Given the description of an element on the screen output the (x, y) to click on. 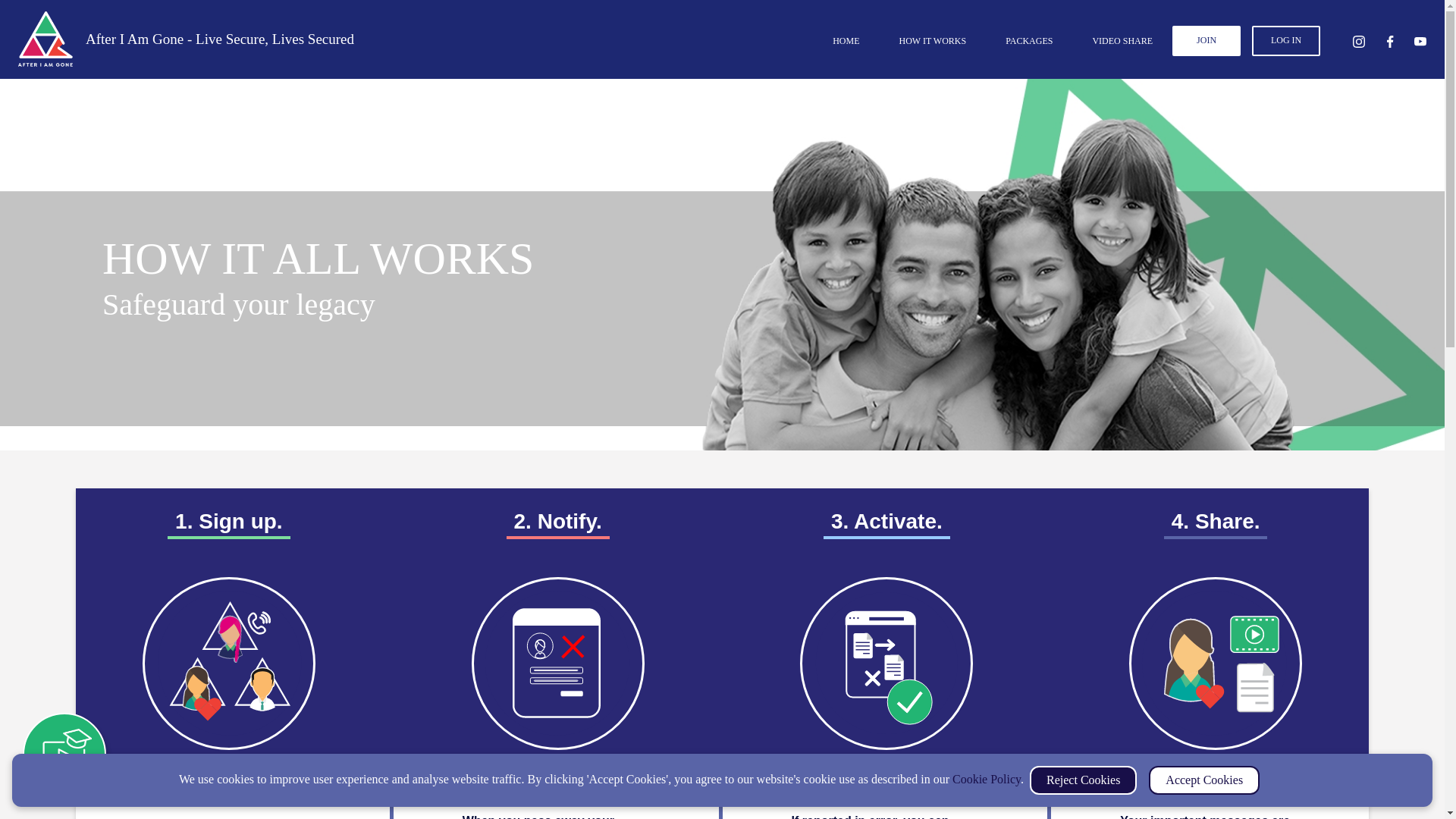
Accept Cookies (1203, 779)
JOIN (1206, 40)
LOG IN (1286, 40)
Reject Cookies (1083, 779)
Cookie Policy (986, 779)
VIDEO SHARE (1121, 40)
HOME (845, 40)
PACKAGES (1028, 40)
HOW IT WORKS (933, 40)
